Given the description of an element on the screen output the (x, y) to click on. 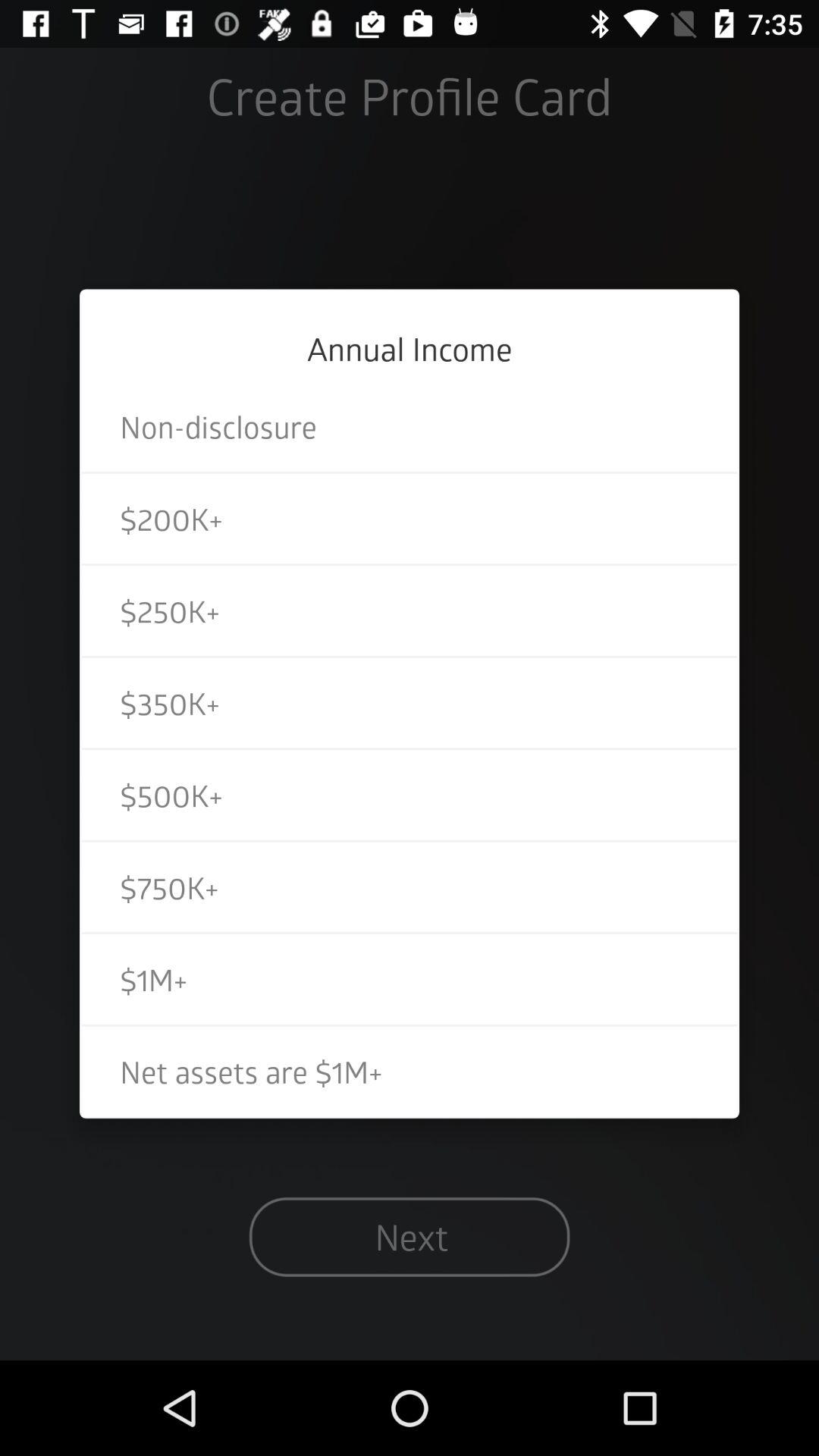
choose icon below $250k+ (409, 702)
